Given the description of an element on the screen output the (x, y) to click on. 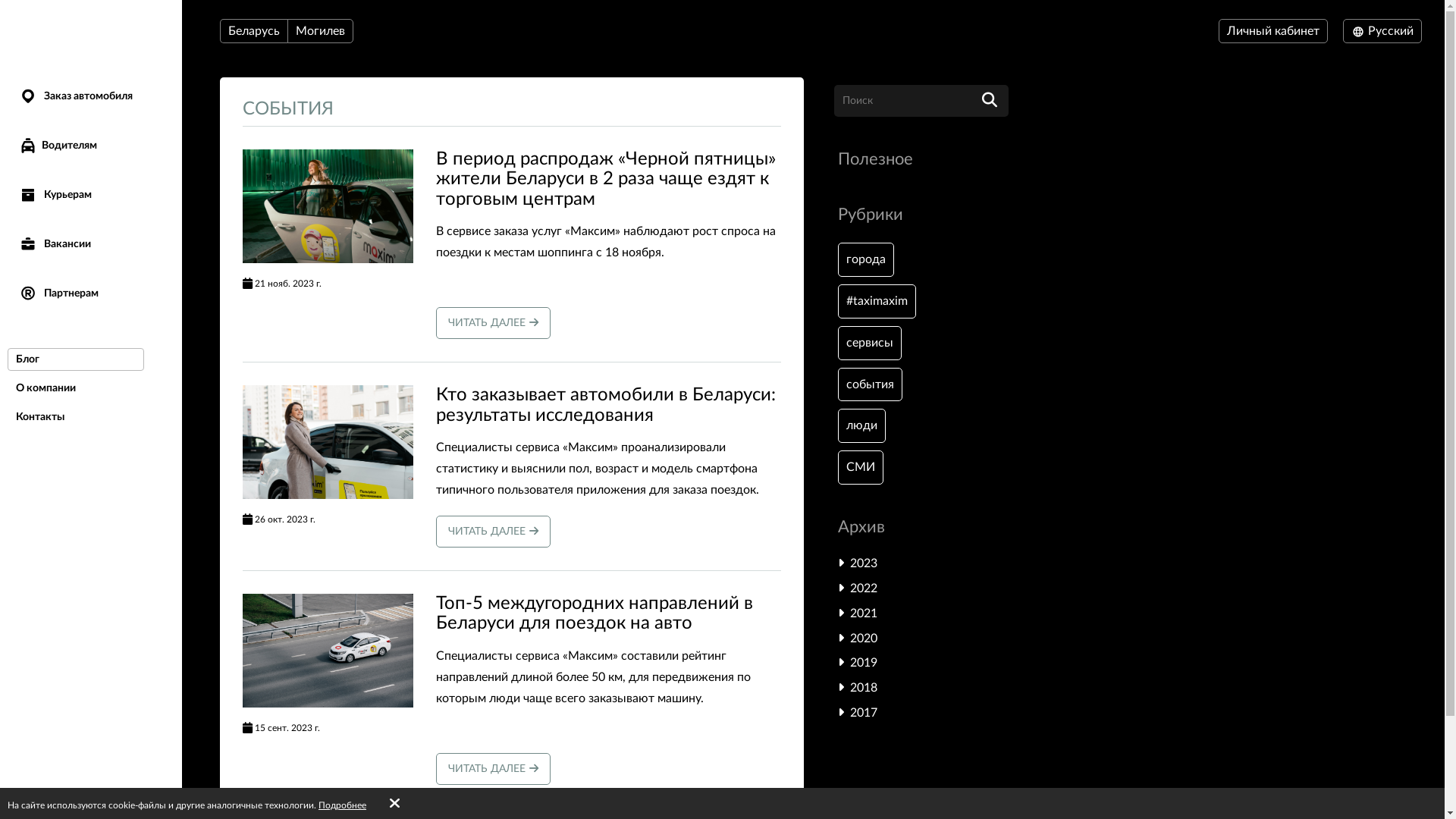
#taximaxim Element type: text (876, 301)
